Given the description of an element on the screen output the (x, y) to click on. 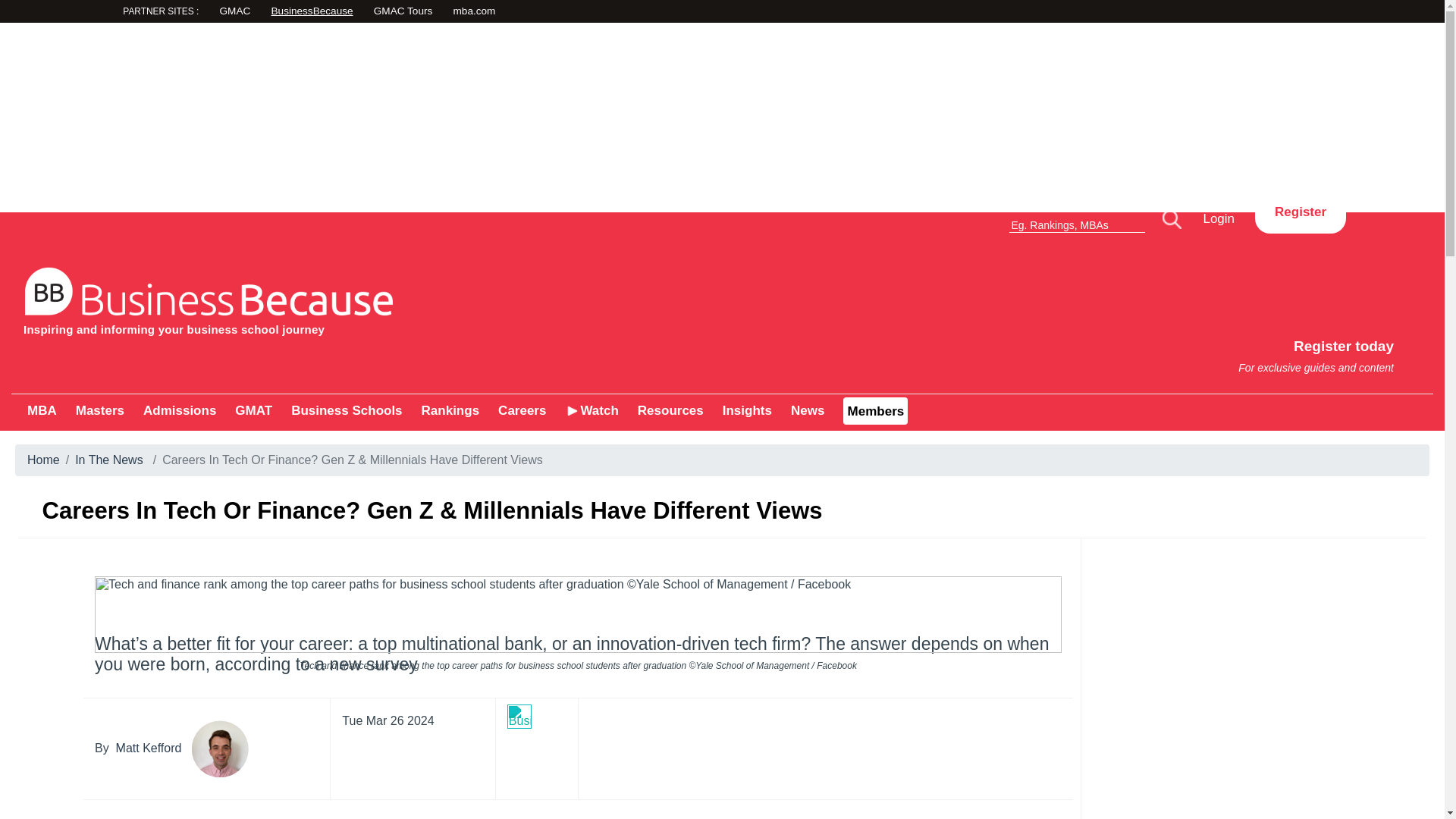
Rankings (451, 410)
GMAC (276, 12)
PARTNER SITES : (189, 12)
GMAC Tours (474, 12)
BusinessBecause (1089, 349)
MBA (367, 12)
Admissions (41, 410)
Business Schools (178, 410)
Inspiring and informing your business school journey (346, 410)
